Given the description of an element on the screen output the (x, y) to click on. 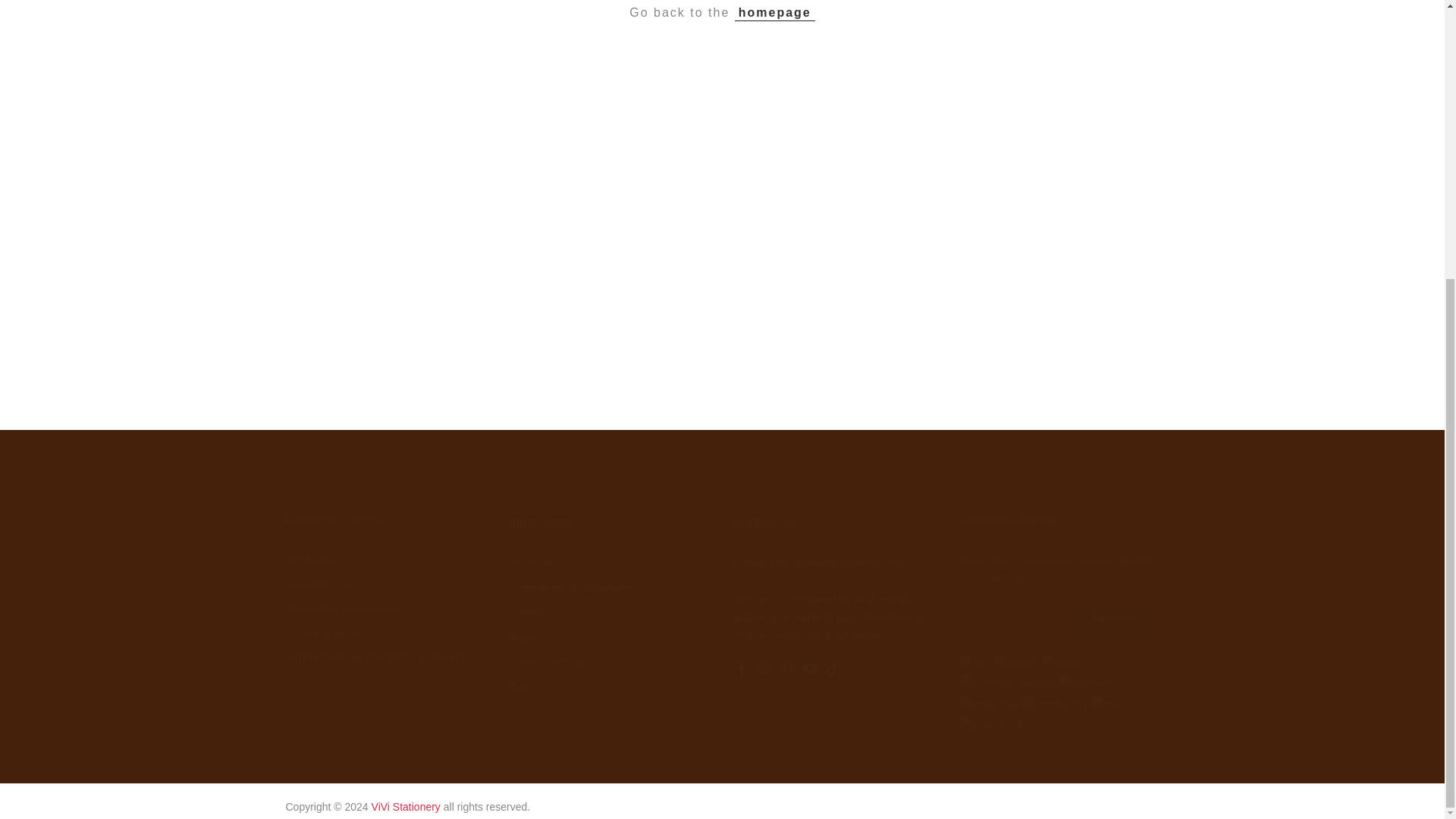
Termini di servizio (327, 633)
Blog (520, 685)
INTELLECTUAL PROPERTY RIGHTS (375, 657)
homepage (775, 12)
Chi siamo (532, 562)
Informativa sulla privacy (341, 607)
Ricerca (526, 636)
Crea un account (548, 661)
Programma di affiliazione (568, 587)
Subscribe (1113, 617)
Spedizione (311, 558)
Contatti (527, 612)
Garanzia e resi (320, 583)
